Given the description of an element on the screen output the (x, y) to click on. 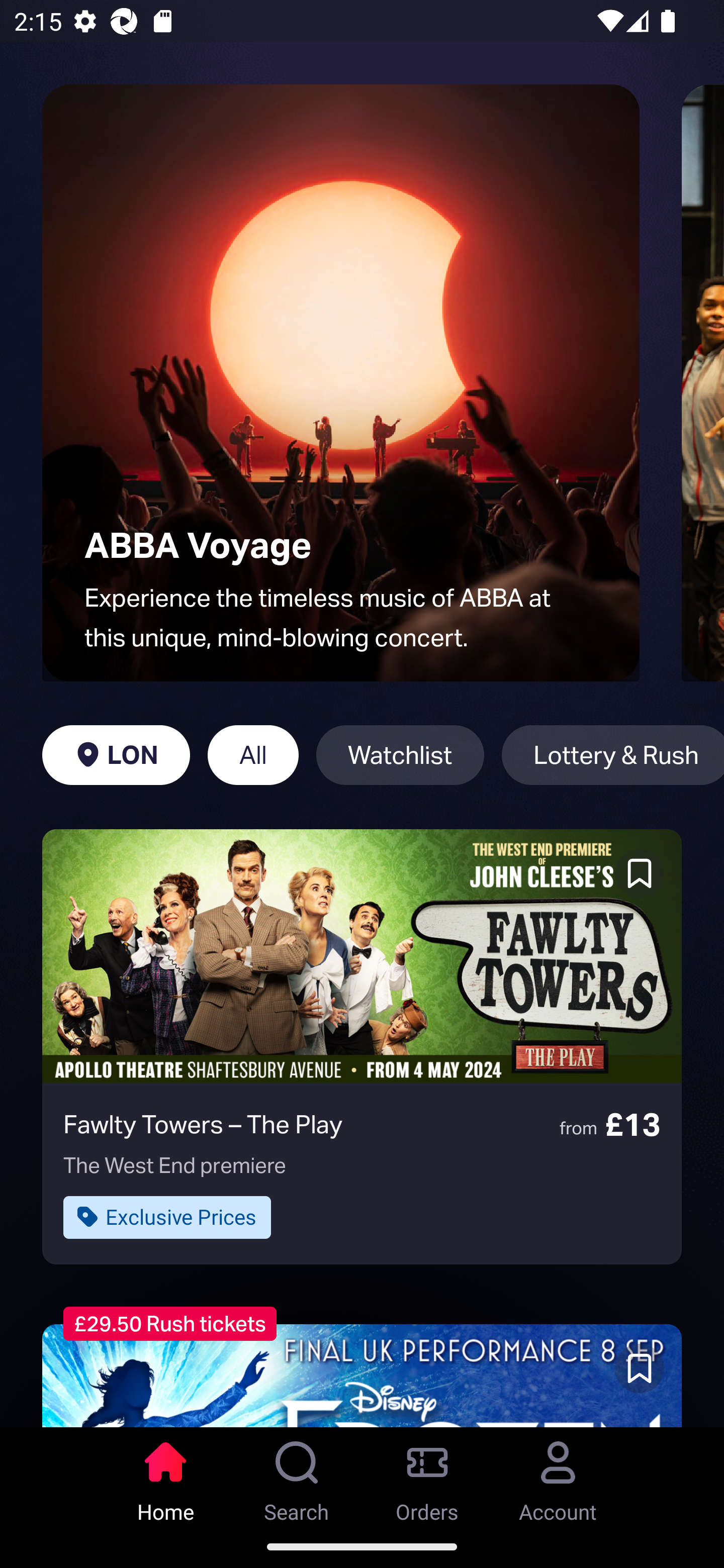
LON (115, 754)
All (252, 754)
Watchlist (400, 754)
Lottery & Rush (612, 754)
Search (296, 1475)
Orders (427, 1475)
Account (558, 1475)
